Given the description of an element on the screen output the (x, y) to click on. 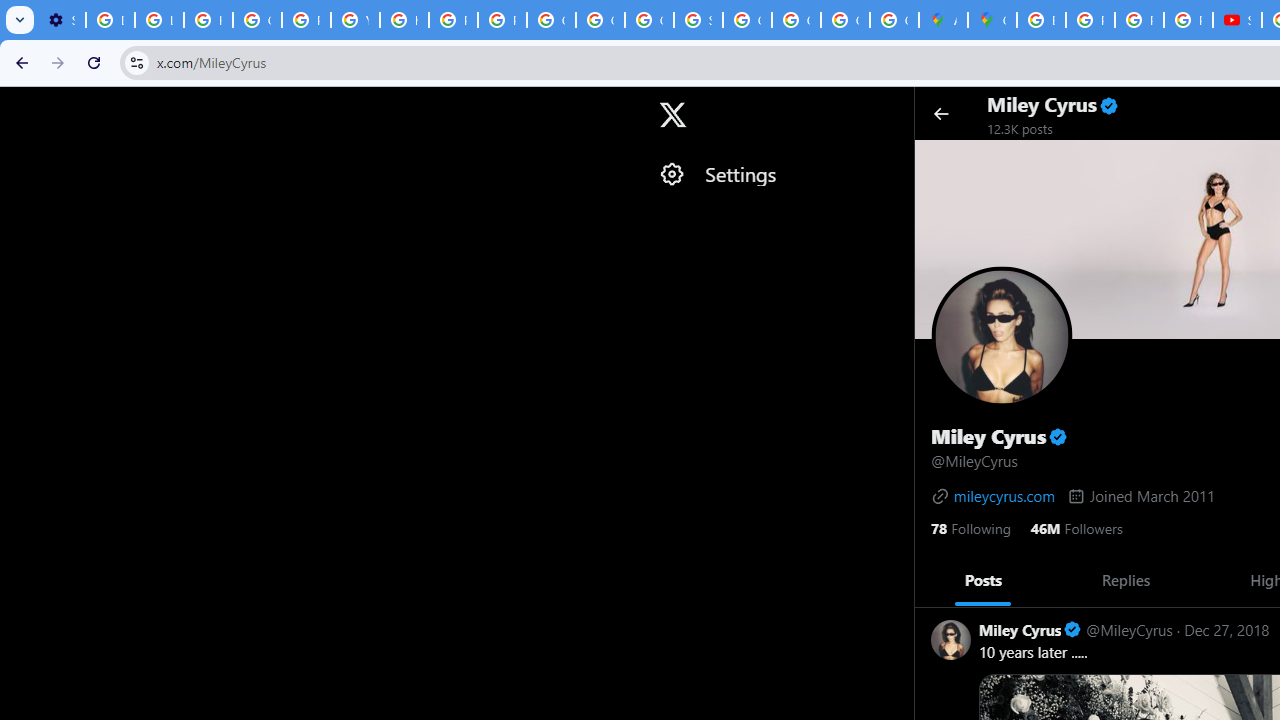
X (672, 115)
Settings - Customize profile (61, 20)
Dec 27, 2018 (1226, 629)
Learn how to find your photos - Google Photos Help (159, 20)
Sign in - Google Accounts (698, 20)
Subscriptions - YouTube (1237, 20)
